Given the description of an element on the screen output the (x, y) to click on. 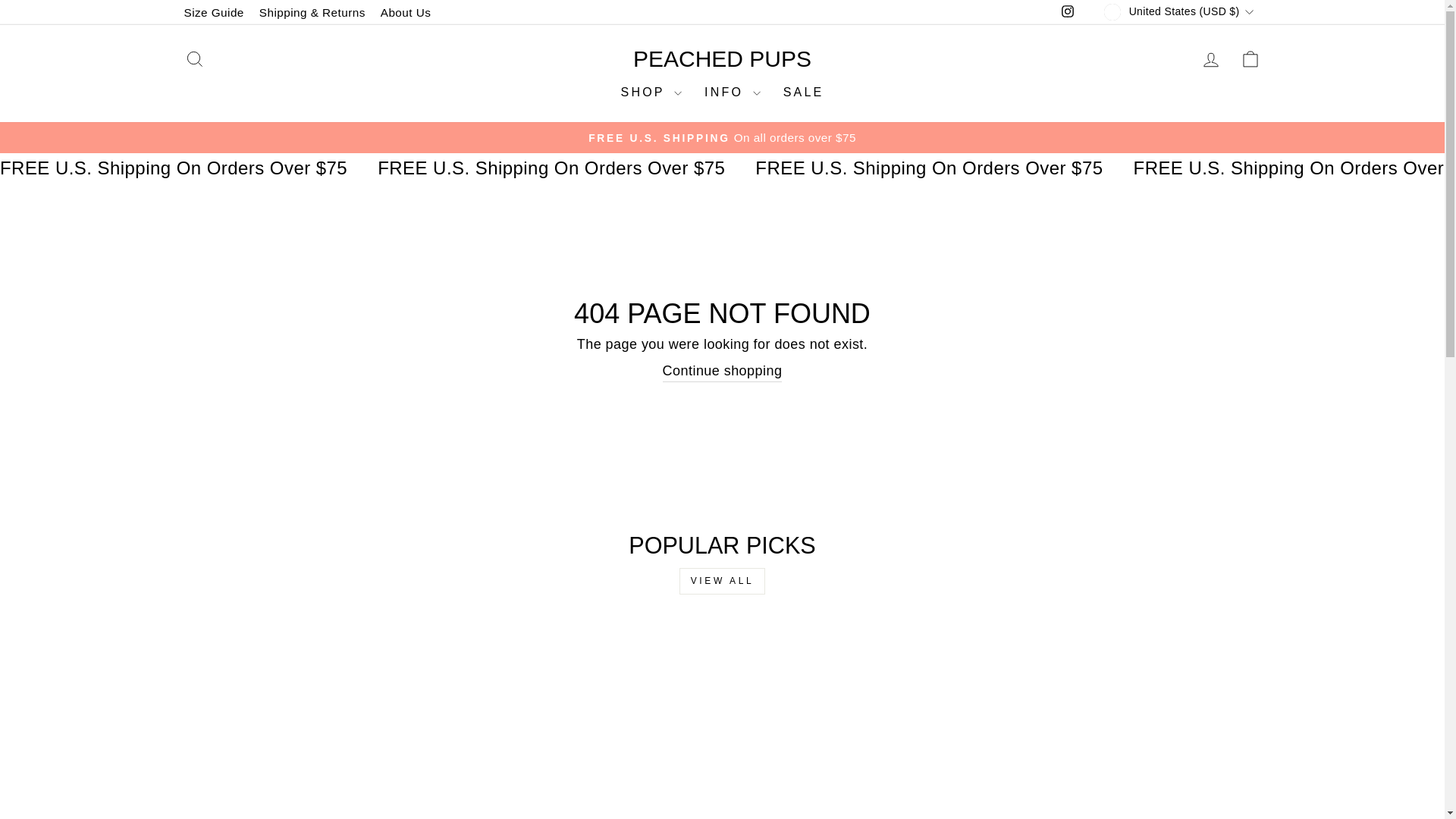
ACCOUNT (1210, 59)
ICON-BAG-MINIMAL (1250, 58)
ICON-SEARCH (194, 58)
About Us (405, 11)
Size Guide (213, 11)
instagram (1067, 10)
